Given the description of an element on the screen output the (x, y) to click on. 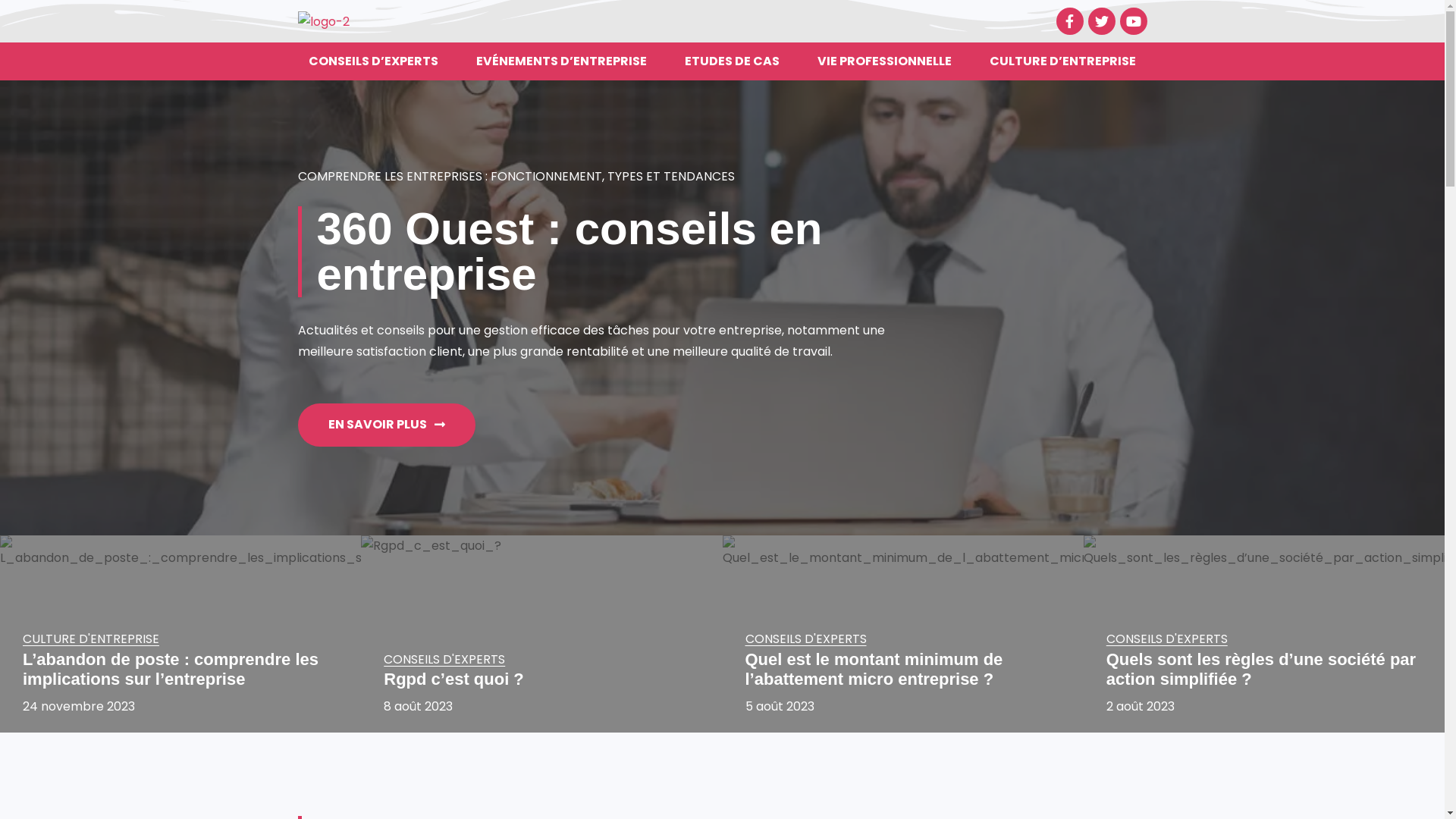
CONSEILS D'EXPERTS Element type: text (805, 638)
EN SAVOIR PLUS Element type: text (385, 424)
VIE PROFESSIONNELLE Element type: text (884, 61)
CULTURE D'ENTREPRISE Element type: text (90, 638)
CONSEILS D'EXPERTS Element type: text (1166, 638)
logo-2 Element type: hover (322, 21)
CONSEILS D'EXPERTS Element type: text (444, 659)
Rgpd_c_est_quoi_? Element type: hover (540, 633)
ETUDES DE CAS Element type: text (731, 61)
